Given the description of an element on the screen output the (x, y) to click on. 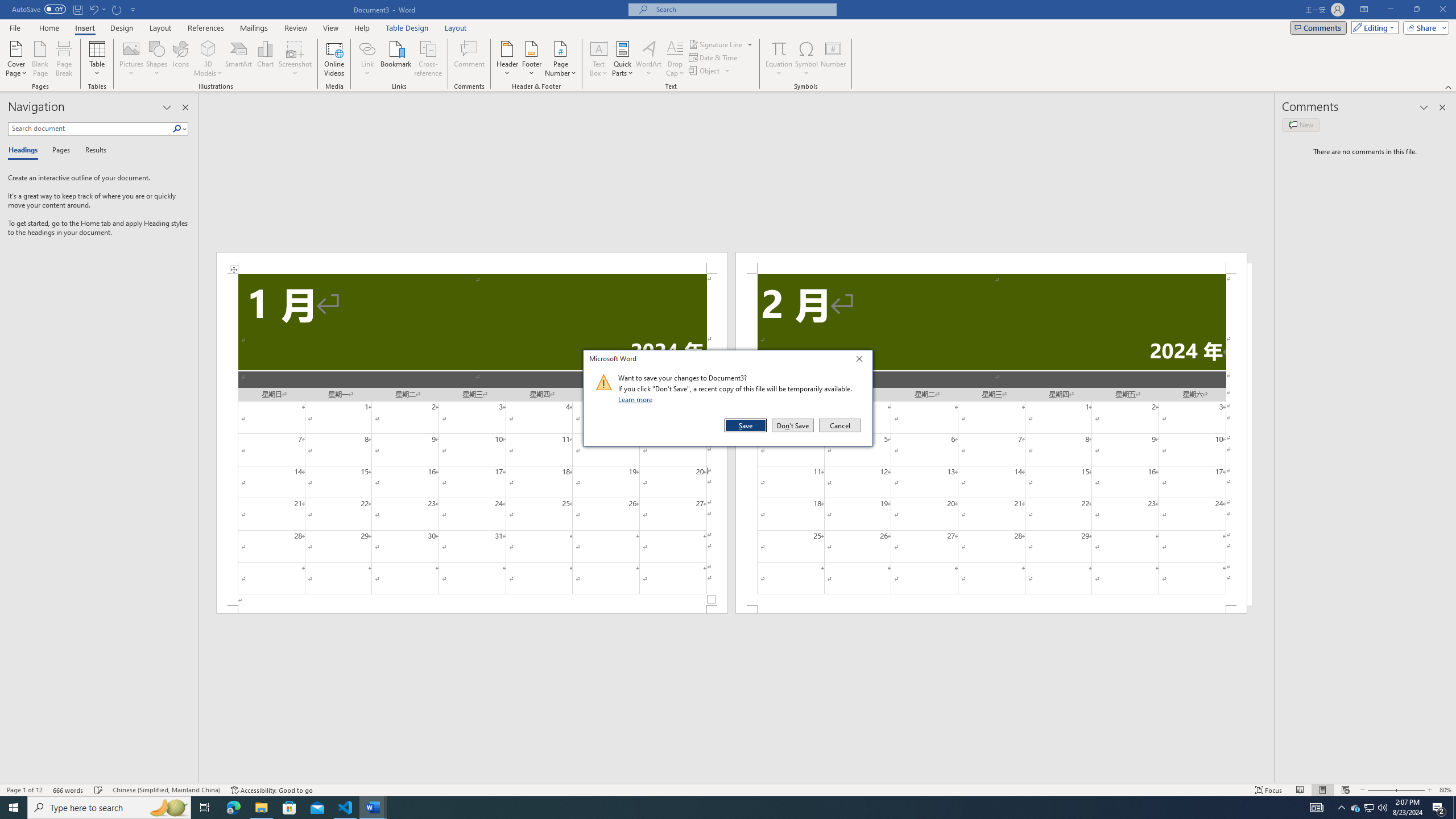
Layout (455, 28)
